Given the description of an element on the screen output the (x, y) to click on. 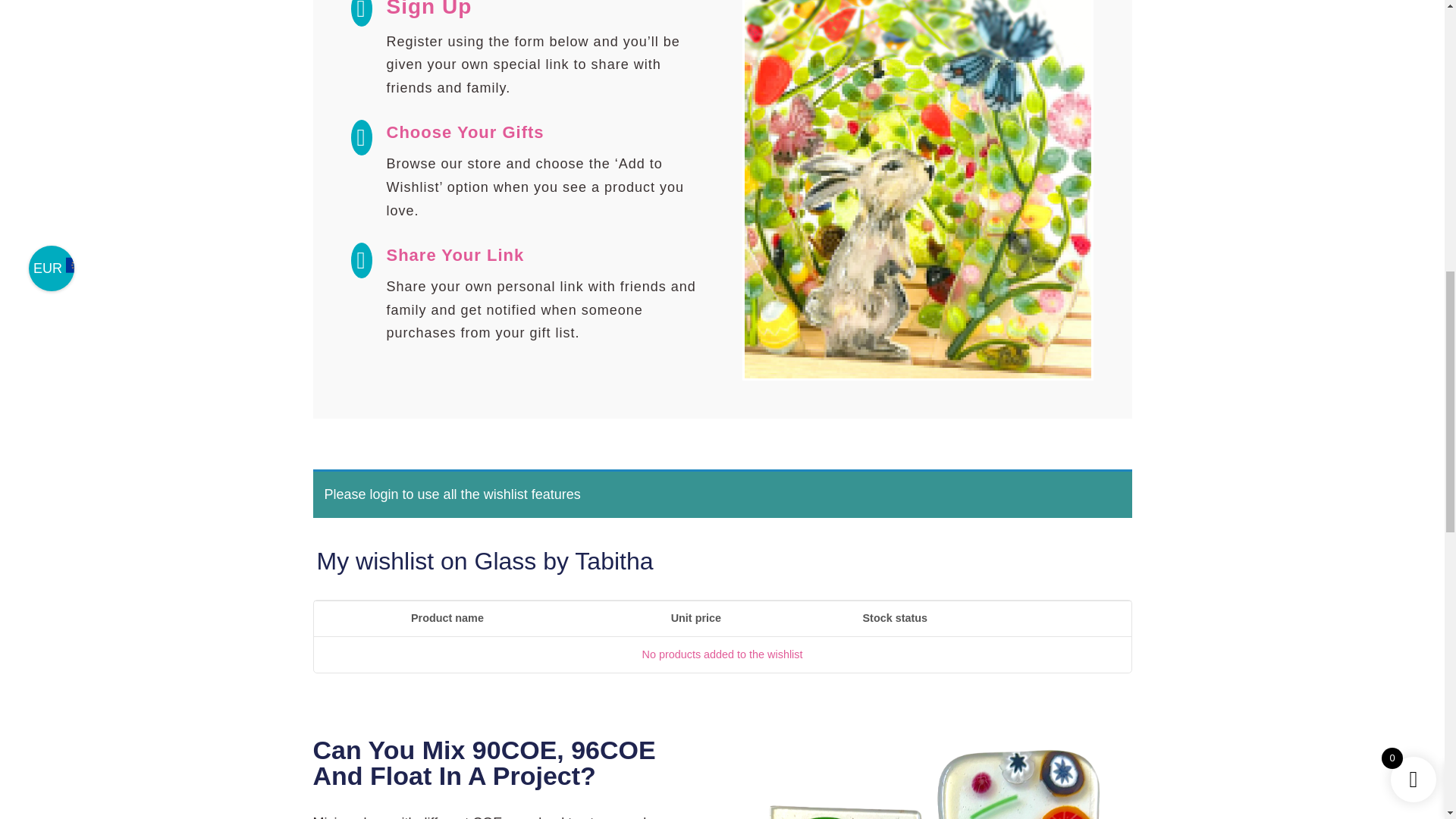
comissions bunny (917, 189)
MIXING DIFFERENT COE (937, 778)
